Given the description of an element on the screen output the (x, y) to click on. 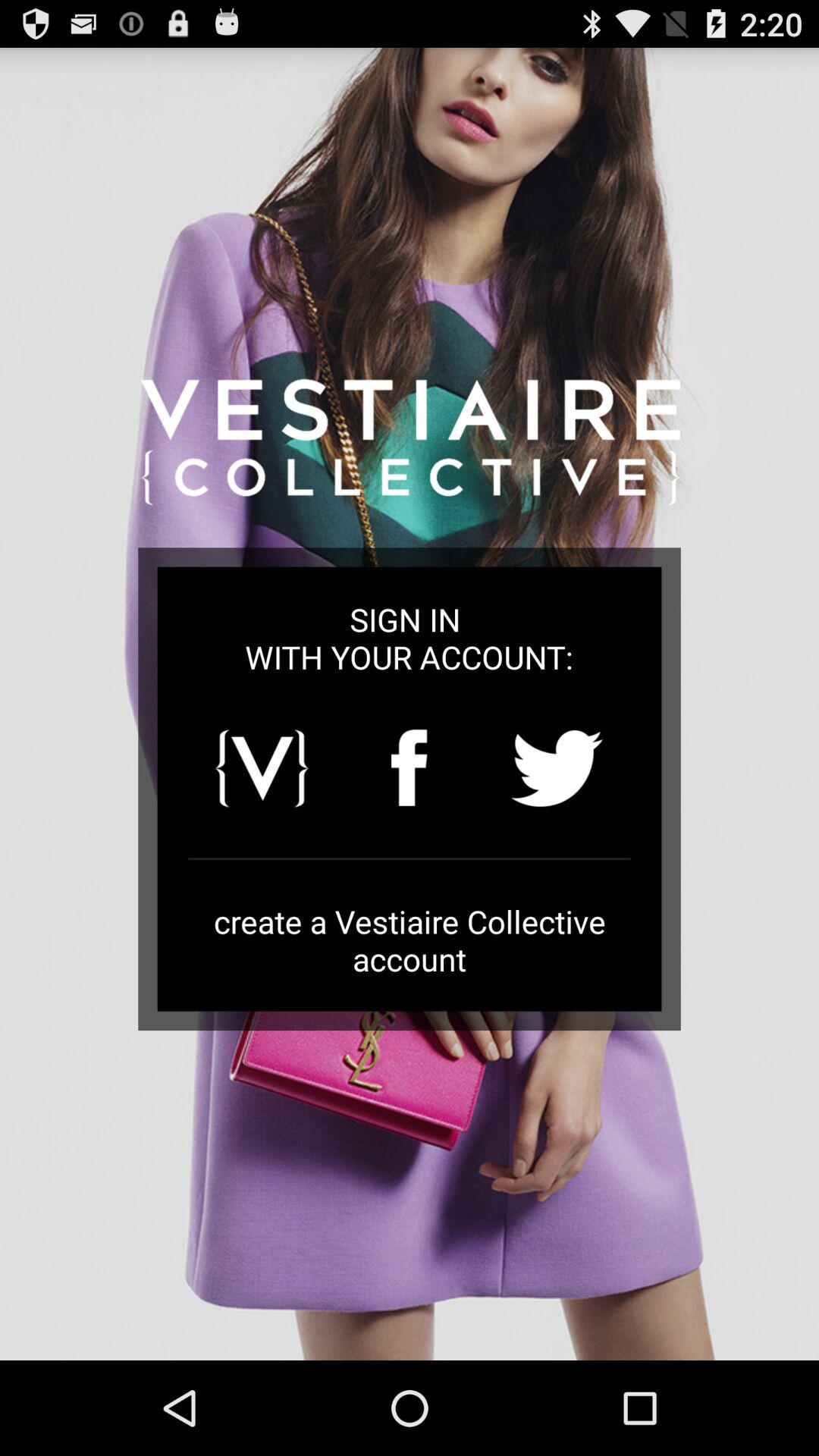
swipe to the create a vestiaire icon (409, 939)
